Given the description of an element on the screen output the (x, y) to click on. 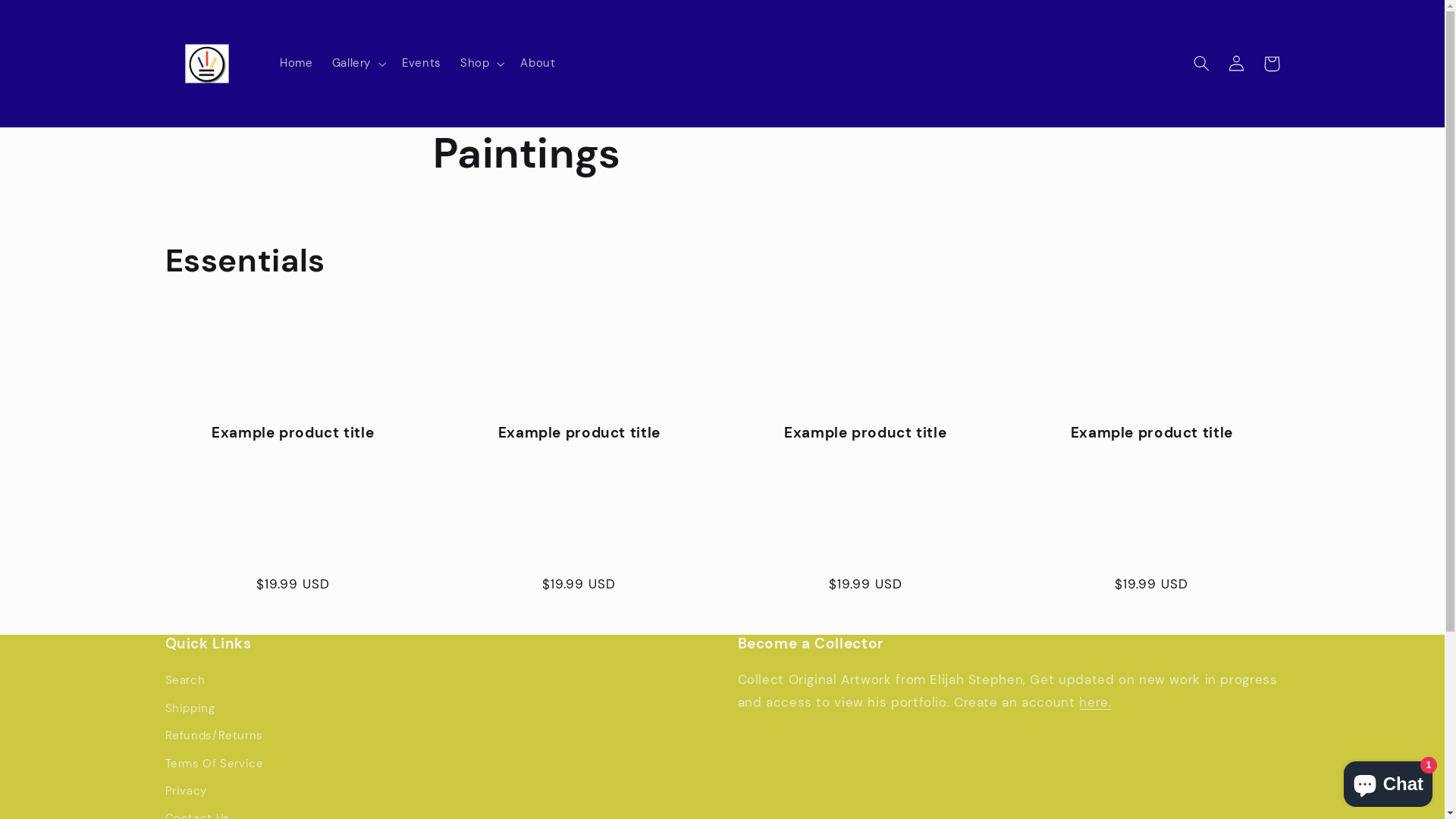
Home Element type: text (295, 63)
Terms Of Service Element type: text (214, 763)
here. Element type: text (1094, 701)
Events Element type: text (421, 63)
Example product title Element type: text (865, 432)
Shipping Element type: text (190, 707)
Search Element type: text (185, 682)
About Element type: text (537, 63)
Example product title Element type: text (1151, 432)
Shopify online store chat Element type: hover (1388, 780)
Example product title Element type: text (292, 432)
Refunds/Returns Element type: text (214, 735)
Log in Element type: text (1236, 63)
Privacy Element type: text (186, 791)
Example product title Element type: text (579, 432)
Cart Element type: text (1271, 63)
